Given the description of an element on the screen output the (x, y) to click on. 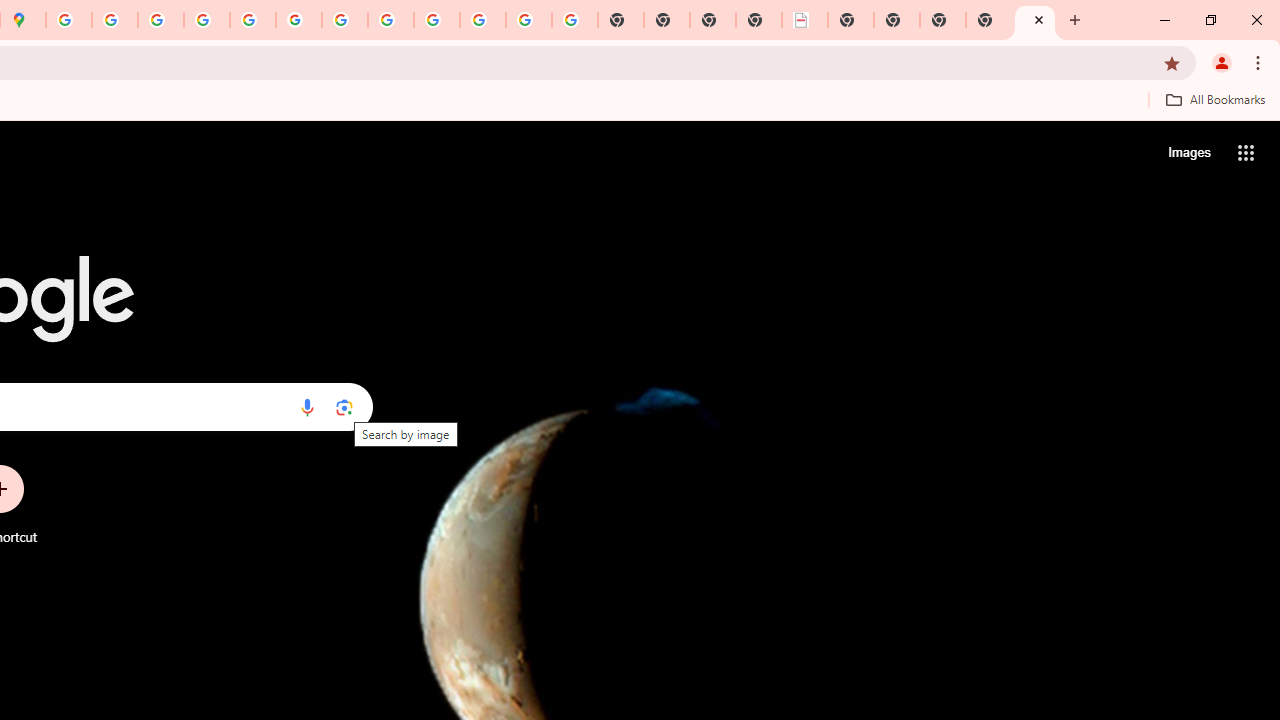
Search for Images  (1188, 152)
New Tab (1035, 20)
Search by image (344, 407)
YouTube (345, 20)
Privacy Help Center - Policies Help (207, 20)
